Given the description of an element on the screen output the (x, y) to click on. 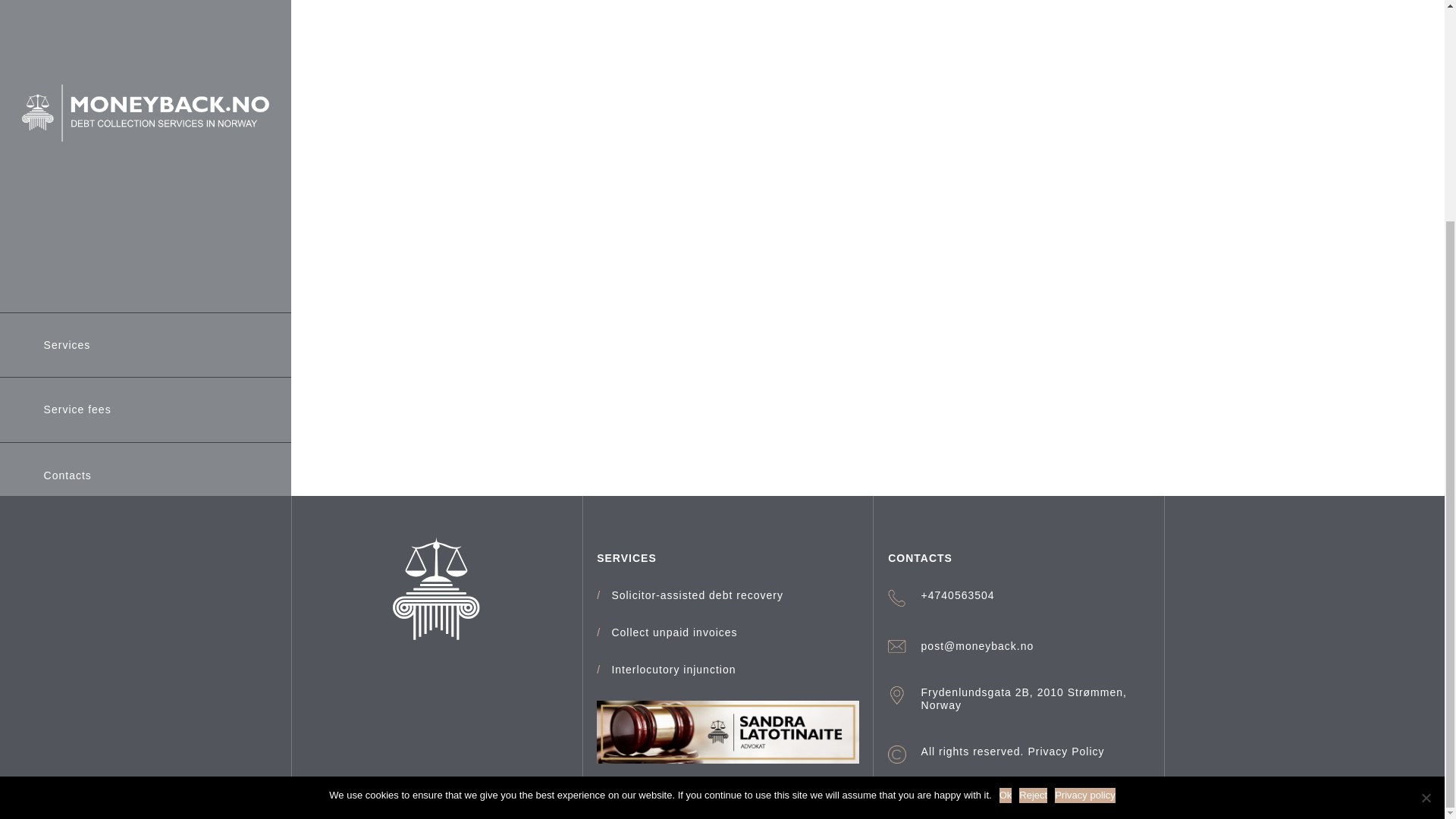
Reject (1032, 501)
Privacy Policy (1065, 751)
Services (66, 51)
RU (87, 411)
NO (145, 411)
EN (203, 411)
Solicitor-assisted debt recovery (697, 594)
Privacy policy (1084, 501)
Collect unpaid invoices (673, 632)
LT (29, 411)
Reject (1425, 503)
Service fees (77, 115)
Contacts (67, 182)
Interlocutory injunction (673, 669)
